Given the description of an element on the screen output the (x, y) to click on. 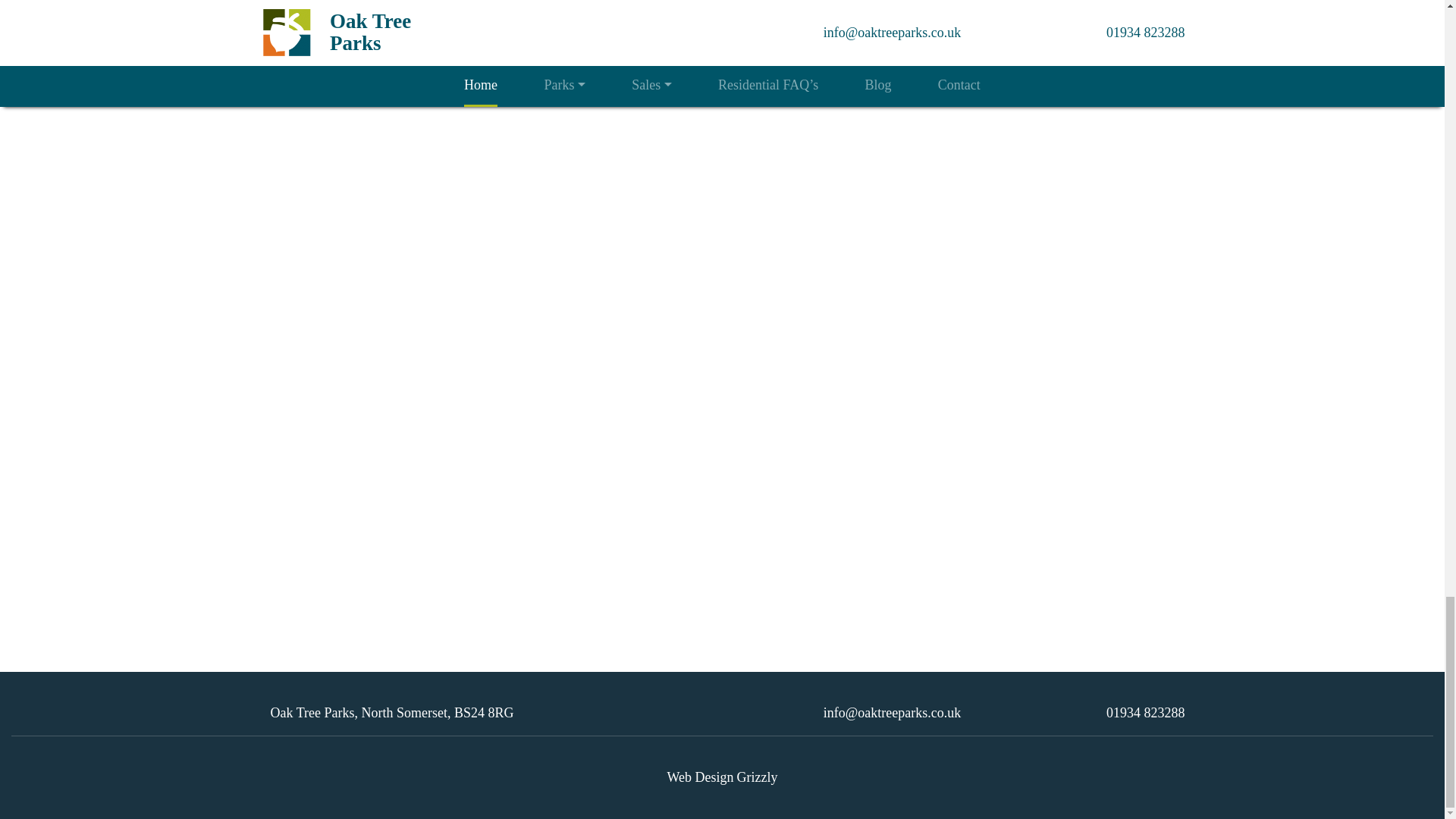
Grizzly (756, 776)
01934 823288 (1145, 712)
Web Design (699, 776)
